Given the description of an element on the screen output the (x, y) to click on. 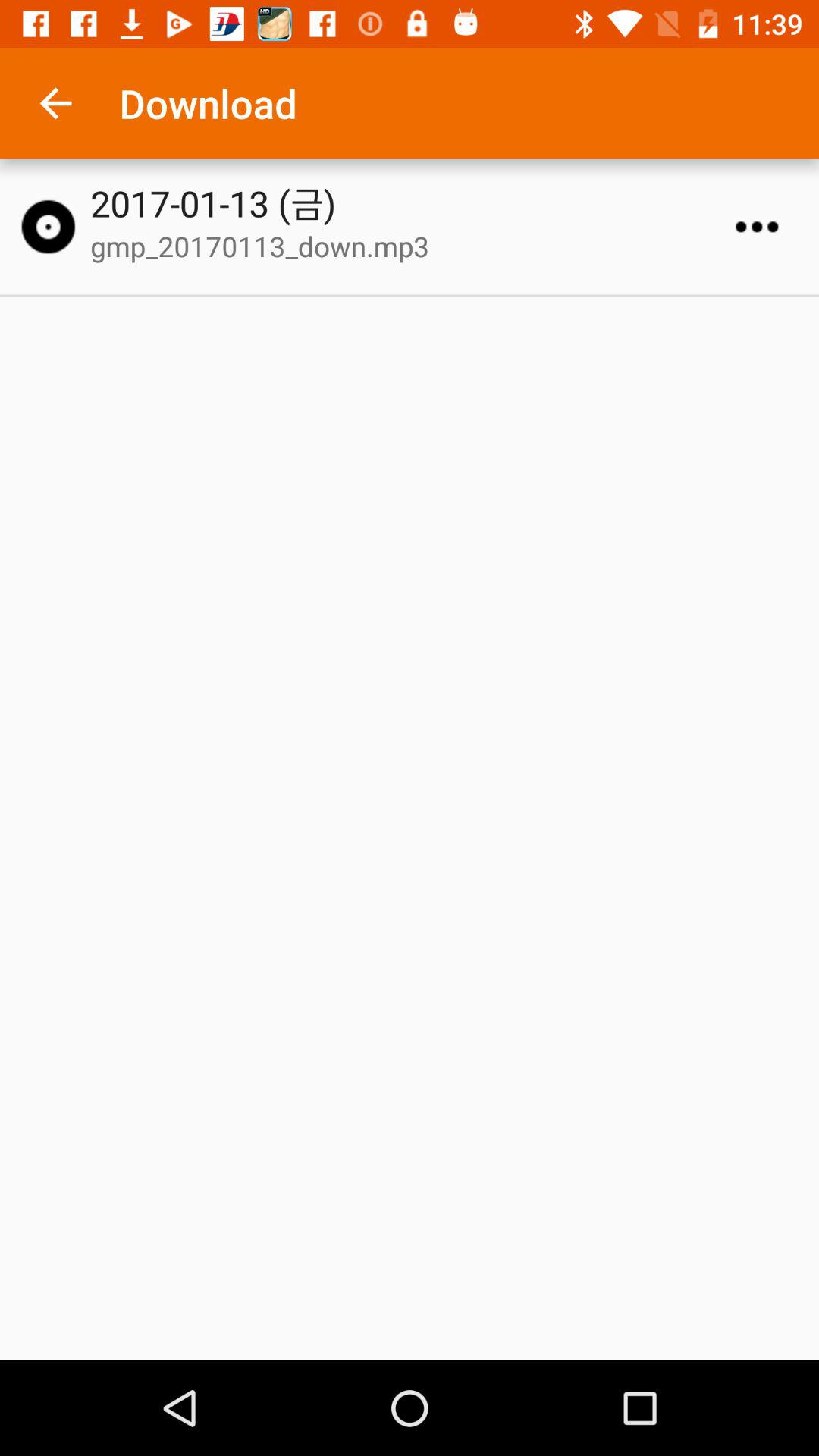
show details/options (756, 226)
